Given the description of an element on the screen output the (x, y) to click on. 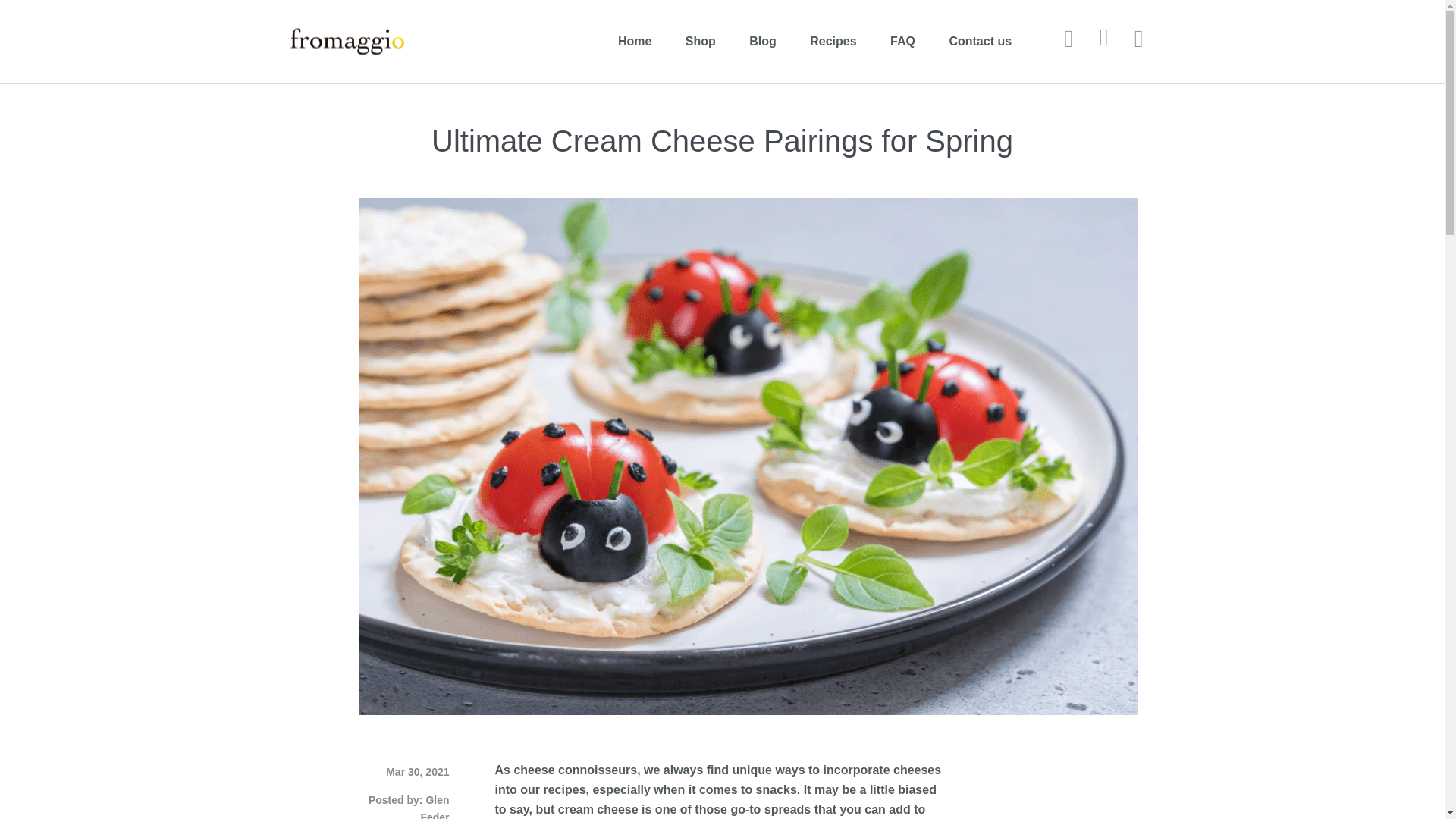
FAQ (902, 41)
Home (634, 41)
Shop (699, 41)
Recipes (832, 41)
Contact us (979, 41)
Blog (762, 41)
